Given the description of an element on the screen output the (x, y) to click on. 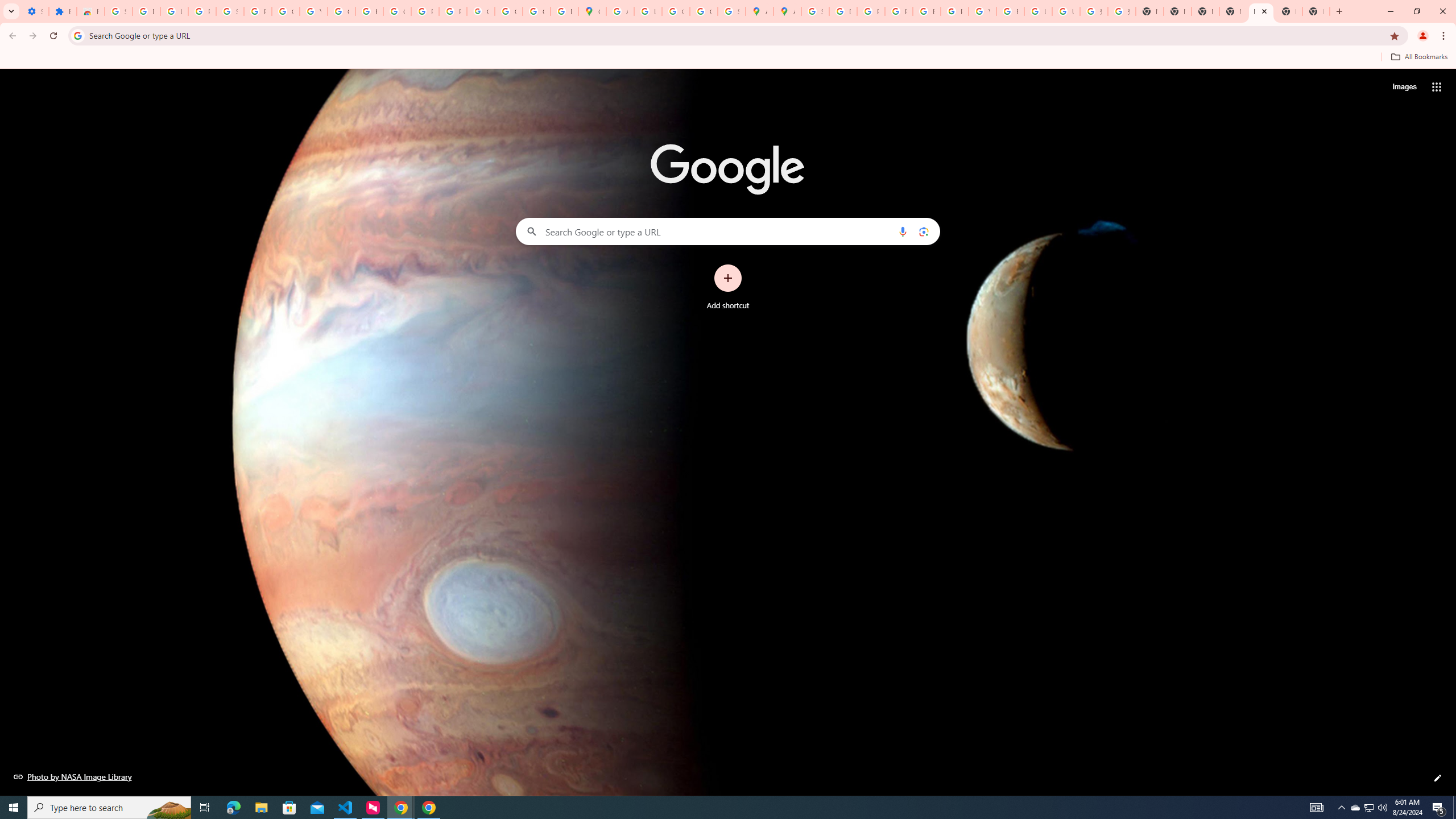
Settings - On startup (34, 11)
Google Account (285, 11)
Photo by NASA Image Library (72, 776)
Google Maps (592, 11)
New Tab (1288, 11)
